Given the description of an element on the screen output the (x, y) to click on. 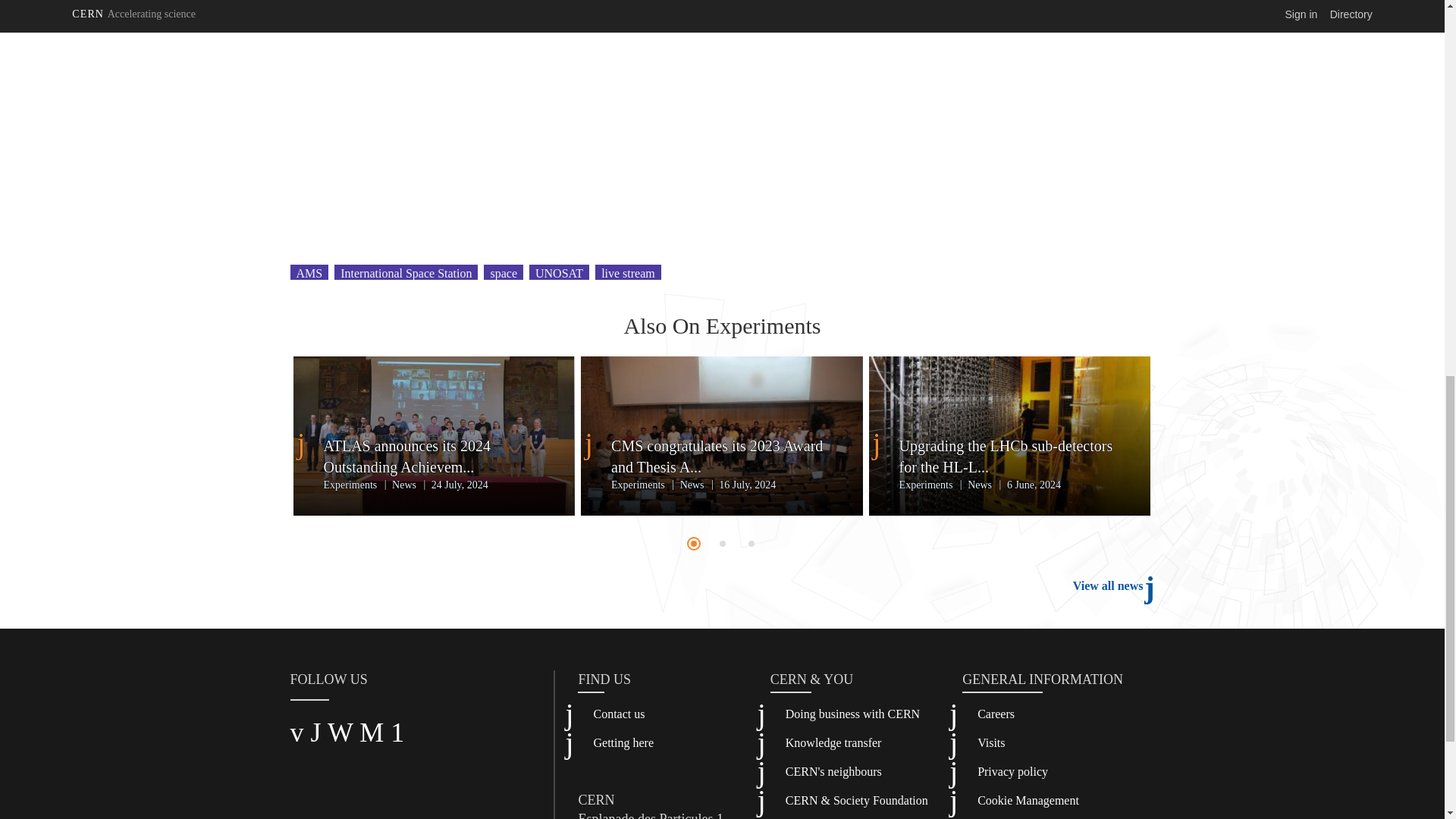
Upgrading the LHCb sub-detectors for the HL-LHC (1010, 455)
CMS congratulates its 2023 Award and Thesis Award winners (721, 455)
